Given the description of an element on the screen output the (x, y) to click on. 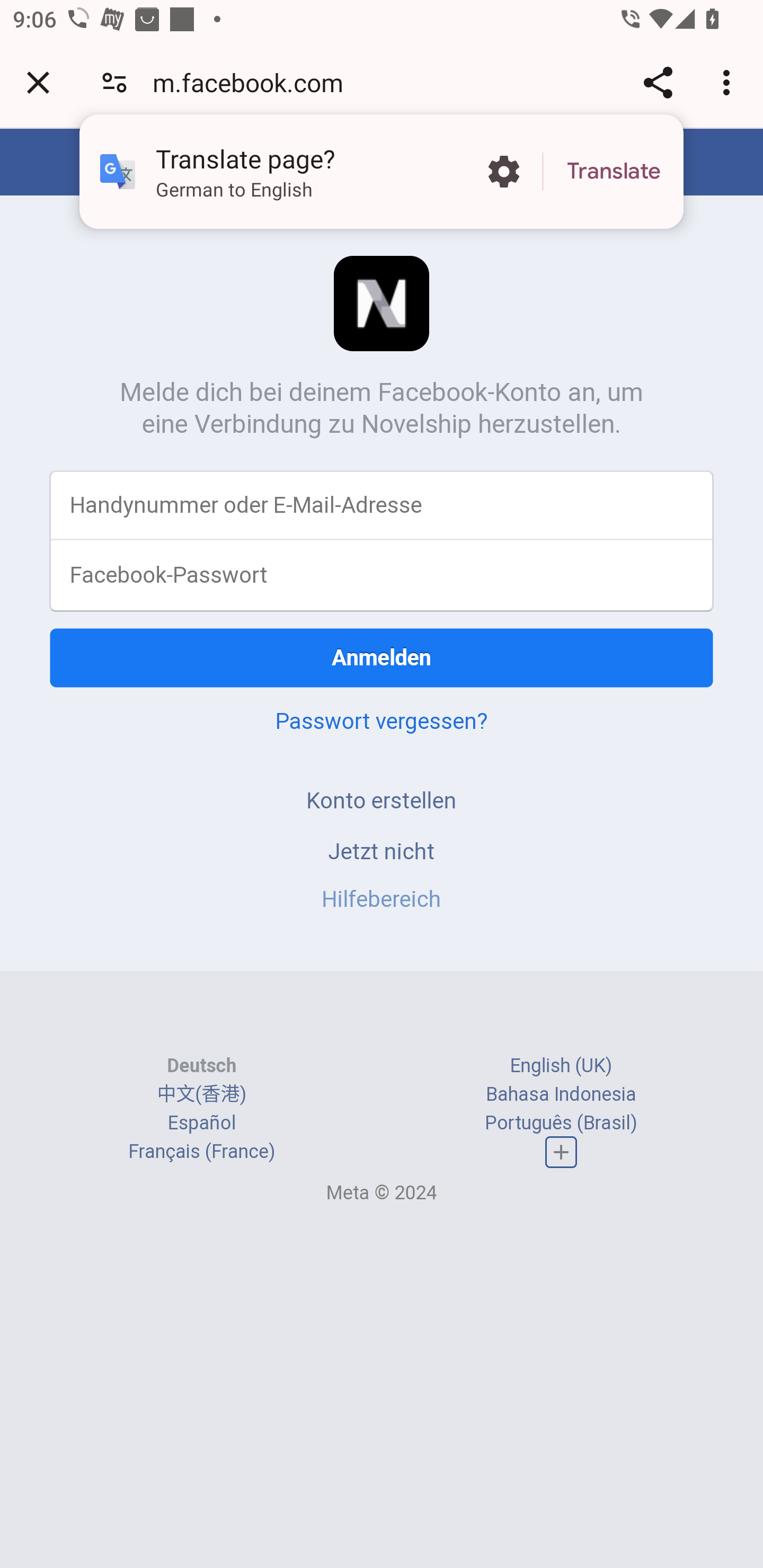
Close tab (38, 82)
Share (657, 82)
Customize and control Google Chrome (729, 82)
Connection is secure (114, 81)
m.facebook.com (254, 81)
Translate (613, 171)
More options in the Translate page? (503, 171)
Anmelden (381, 657)
Passwort vergessen? (381, 720)
Konto erstellen (381, 800)
Jetzt nicht (381, 850)
Hilfebereich (381, 898)
English (UK) (560, 1065)
中文(香港) (201, 1093)
Bahasa Indonesia (560, 1093)
Español (201, 1122)
Português (Brasil) (560, 1122)
Vollständige Liste aller Sprachen (560, 1152)
Français (France) (201, 1151)
